Given the description of an element on the screen output the (x, y) to click on. 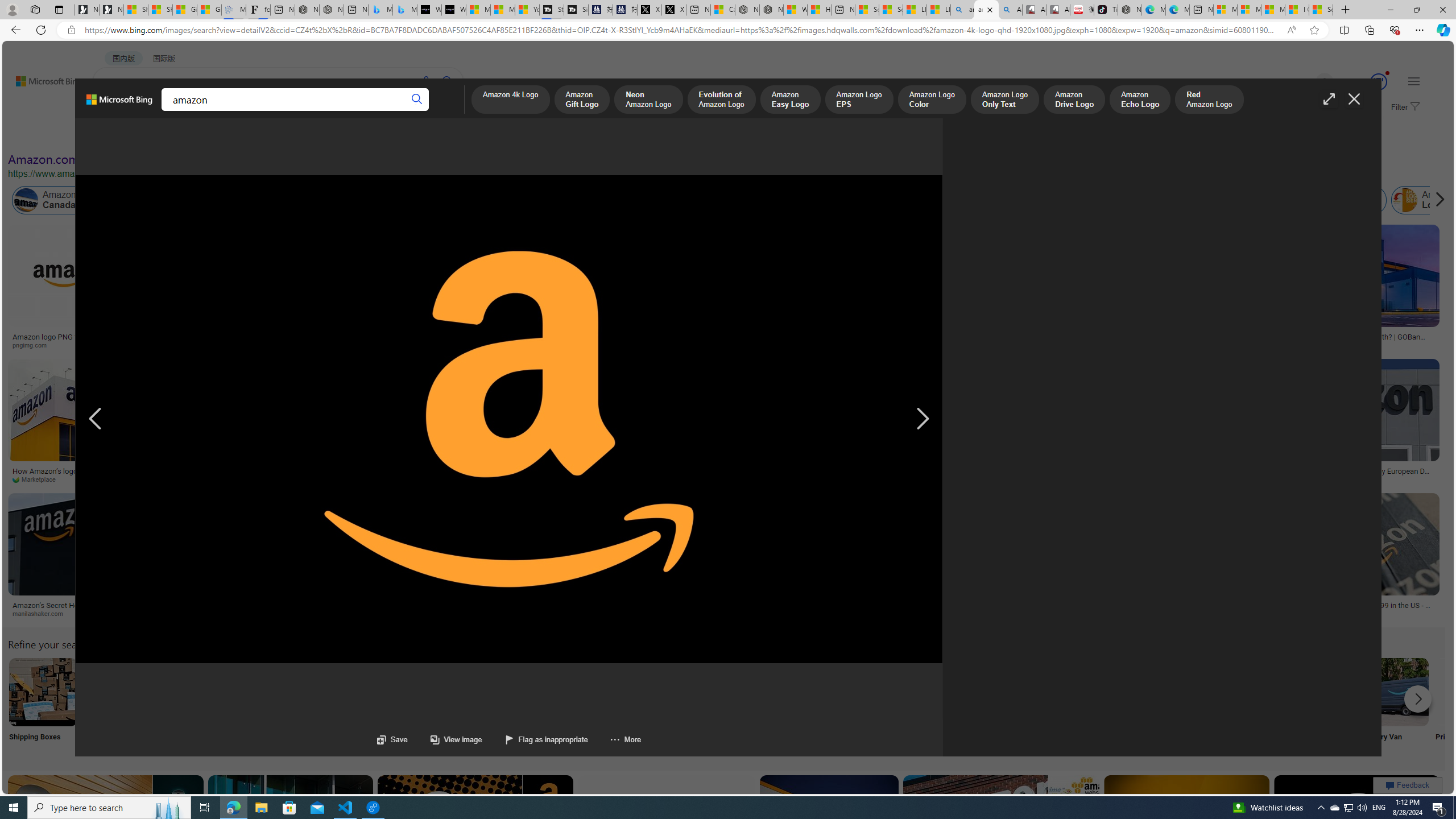
Dropdown Menu (443, 111)
Marketplace (98, 479)
Amazon Official Website Official Website (1243, 706)
Amazon Logo Color (931, 100)
Amazon Animals (401, 200)
Amazon Cloud (344, 199)
The Verge (1062, 479)
manilashaker.com (100, 613)
